Given the description of an element on the screen output the (x, y) to click on. 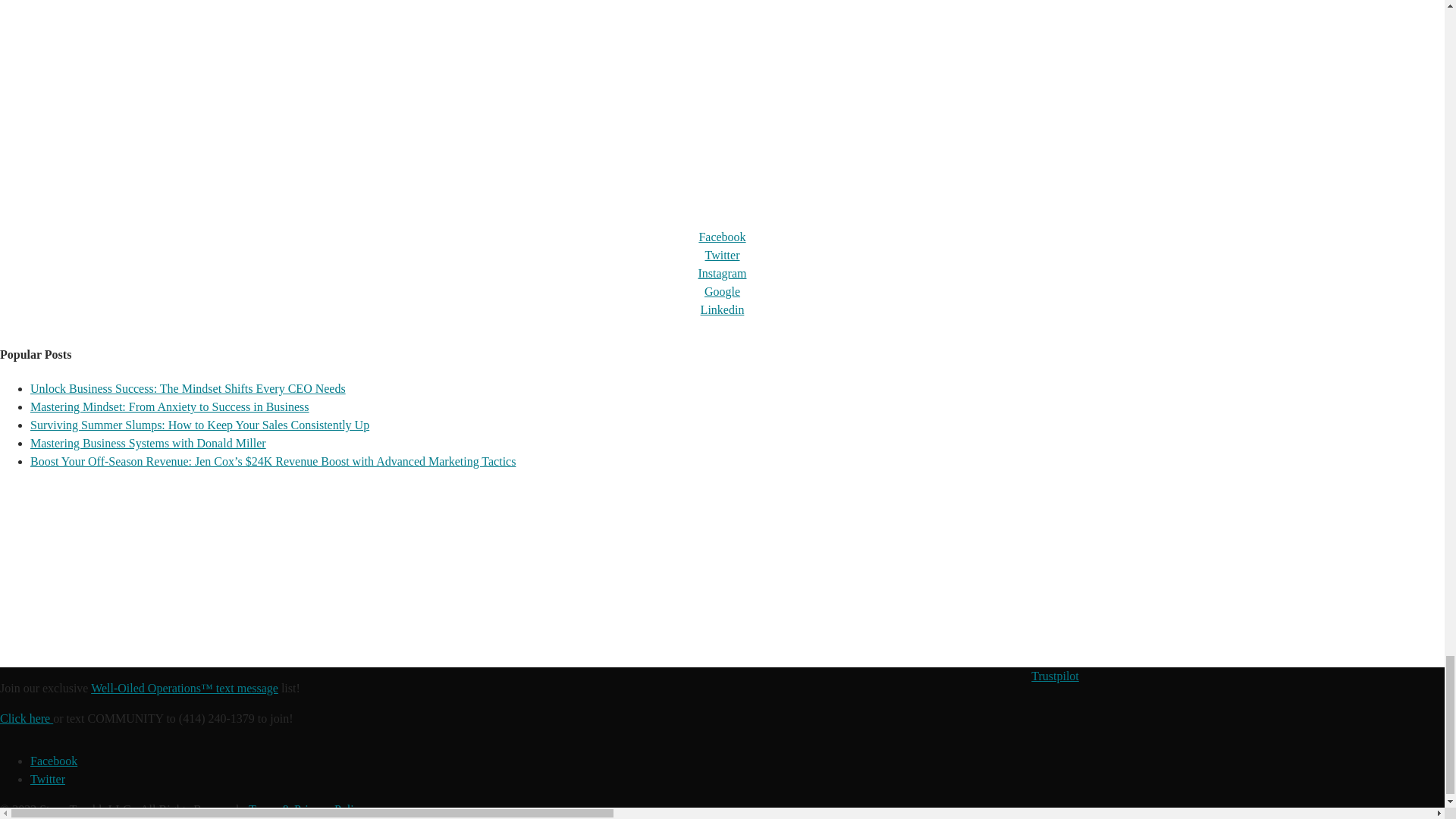
Trustpilot (1054, 675)
Instagram (721, 273)
Mastering Business Systems with Donald Miller (148, 442)
Twitter (721, 254)
Click here (26, 717)
Facebook (721, 236)
Unlock Business Success: The Mindset Shifts Every CEO Needs (188, 388)
Mastering Mindset: From Anxiety to Success in Business (169, 406)
Google (721, 291)
